Given the description of an element on the screen output the (x, y) to click on. 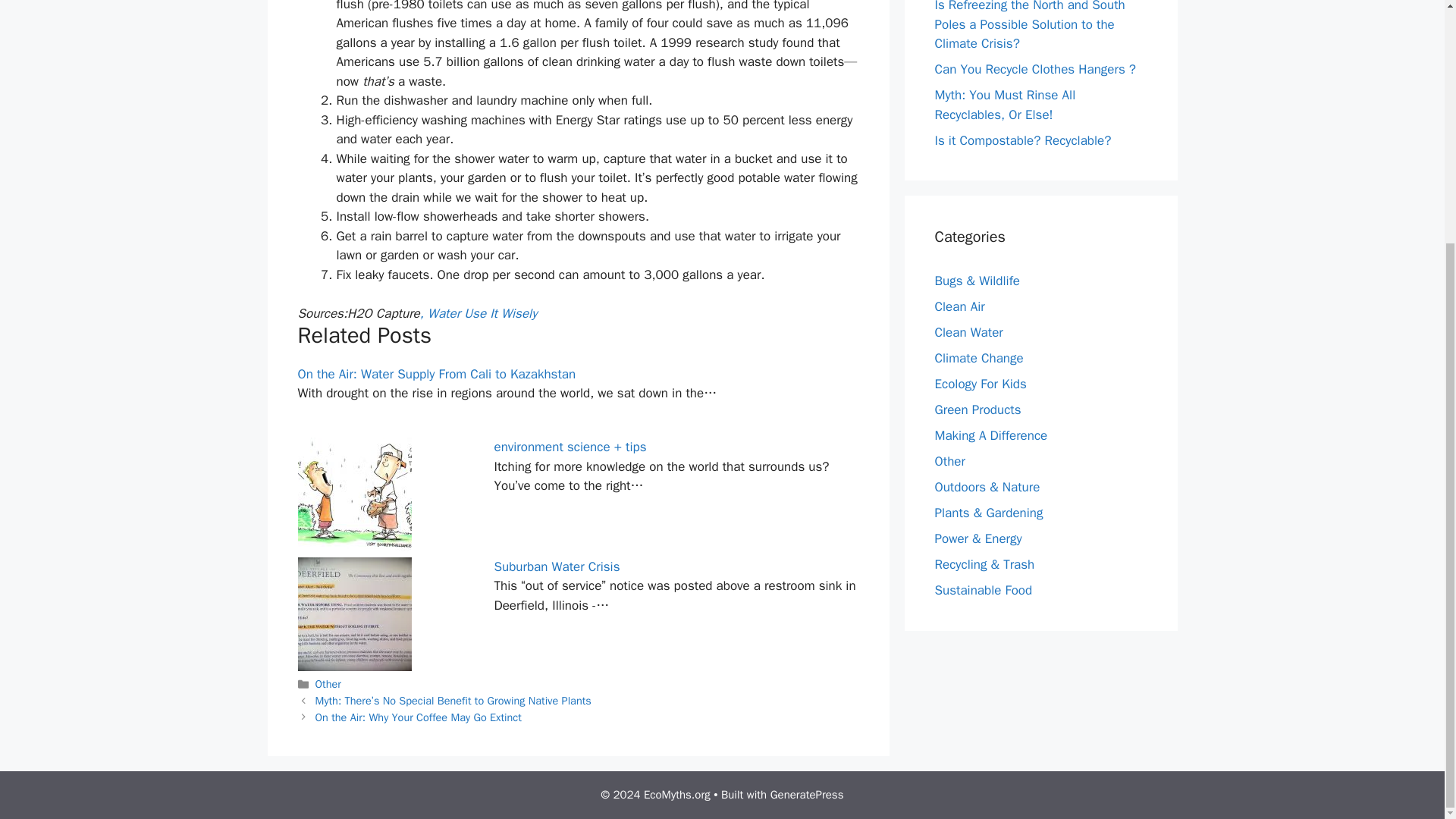
On the Air: Why Your Coffee May Go Extinct (418, 716)
Is it Compostable? Recyclable? (1022, 140)
Sustainable Food (983, 590)
Previous (453, 700)
Other (327, 684)
Clean Air (959, 306)
GeneratePress (807, 794)
Making A Difference (990, 435)
Other (948, 461)
Climate Change (978, 358)
On the Air: Water Supply From Cali to Kazakhstan (436, 374)
Next (418, 716)
Suburban Water Crisis (557, 566)
Can You Recycle Clothes Hangers ? (1034, 68)
Green Products (977, 409)
